Given the description of an element on the screen output the (x, y) to click on. 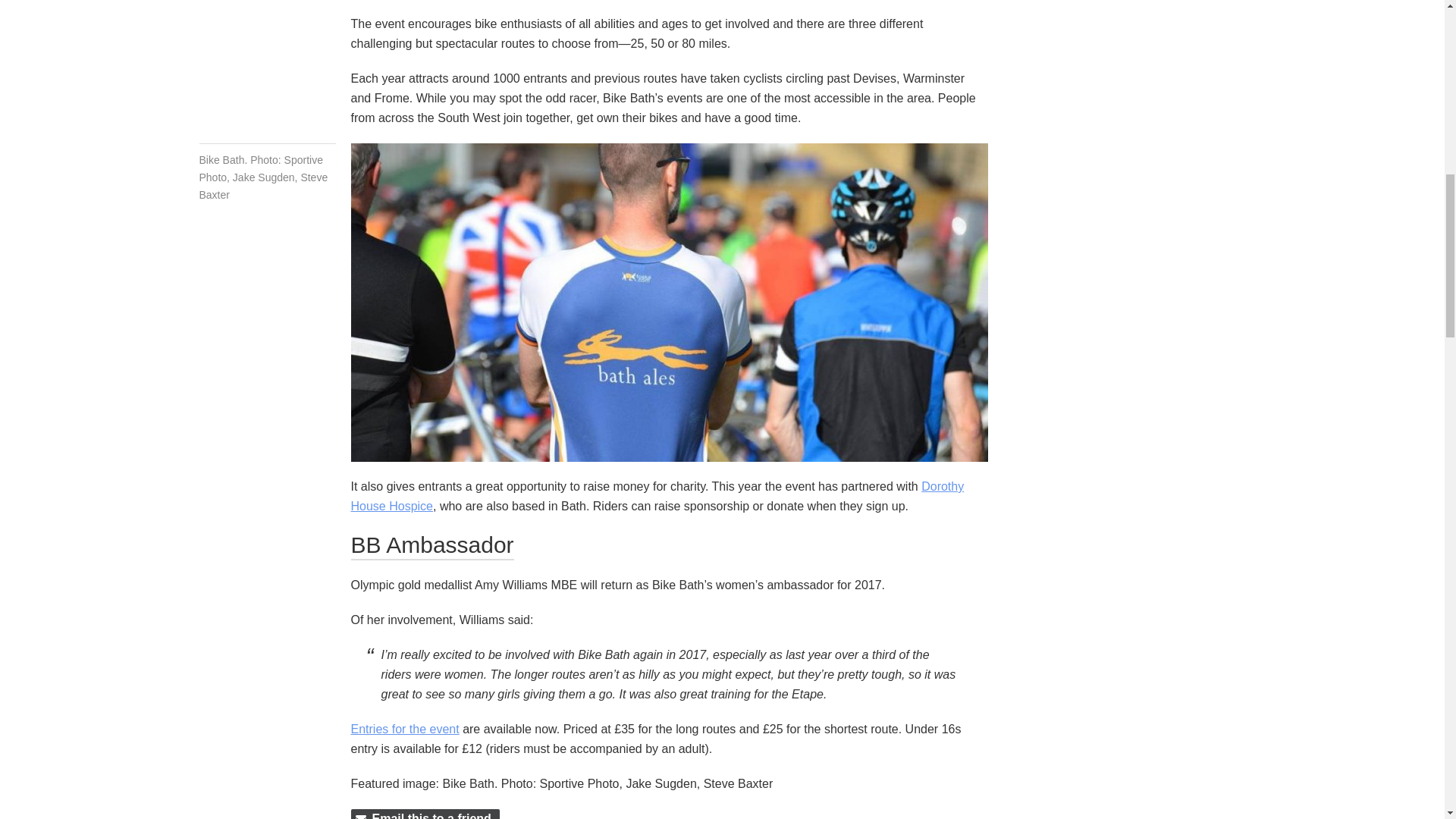
Email (424, 814)
Entries for the event (404, 728)
Dorothy House Hospice (656, 495)
Share via Email (424, 814)
Email (424, 814)
